Given the description of an element on the screen output the (x, y) to click on. 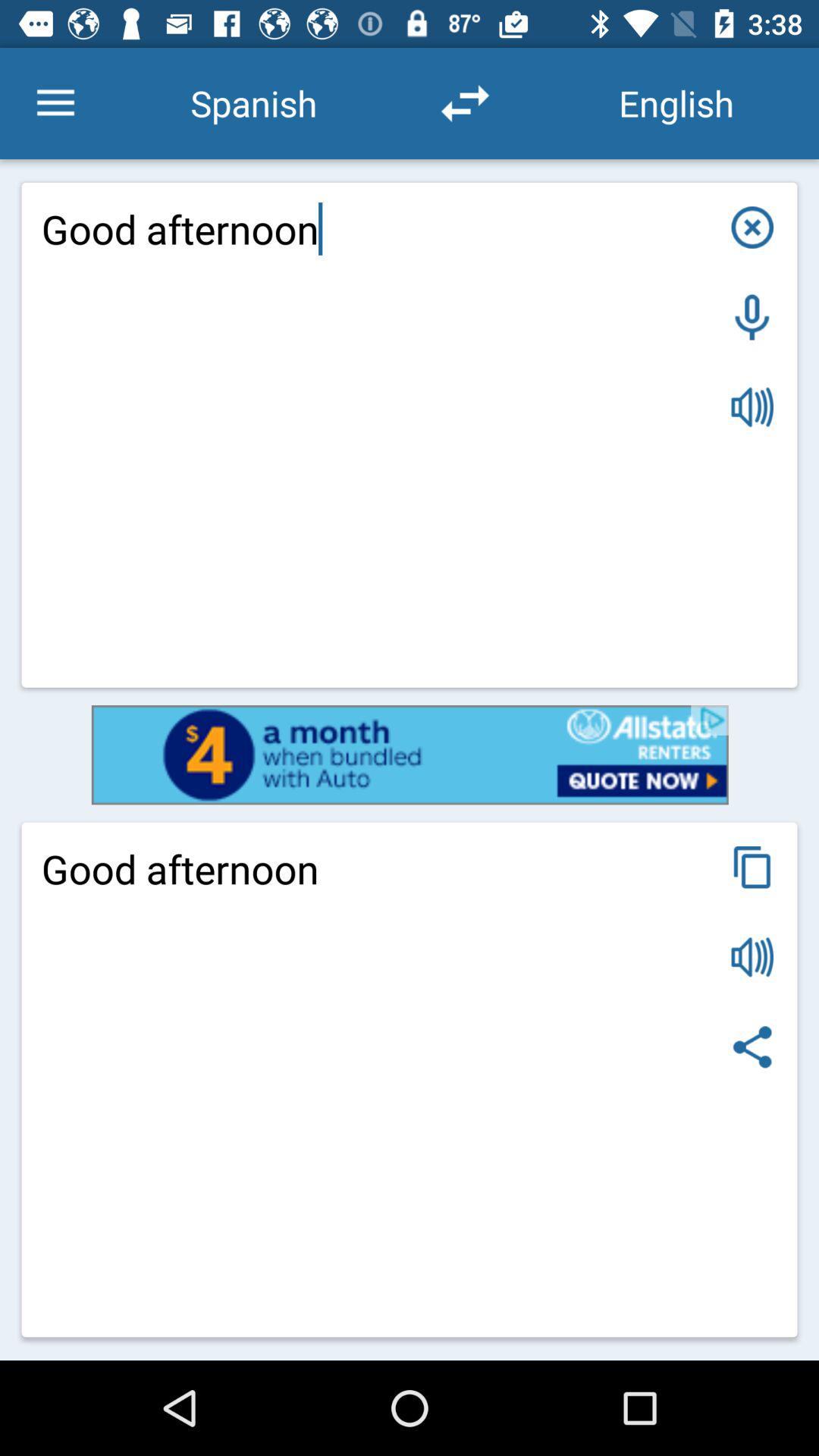
mike (752, 317)
